Given the description of an element on the screen output the (x, y) to click on. 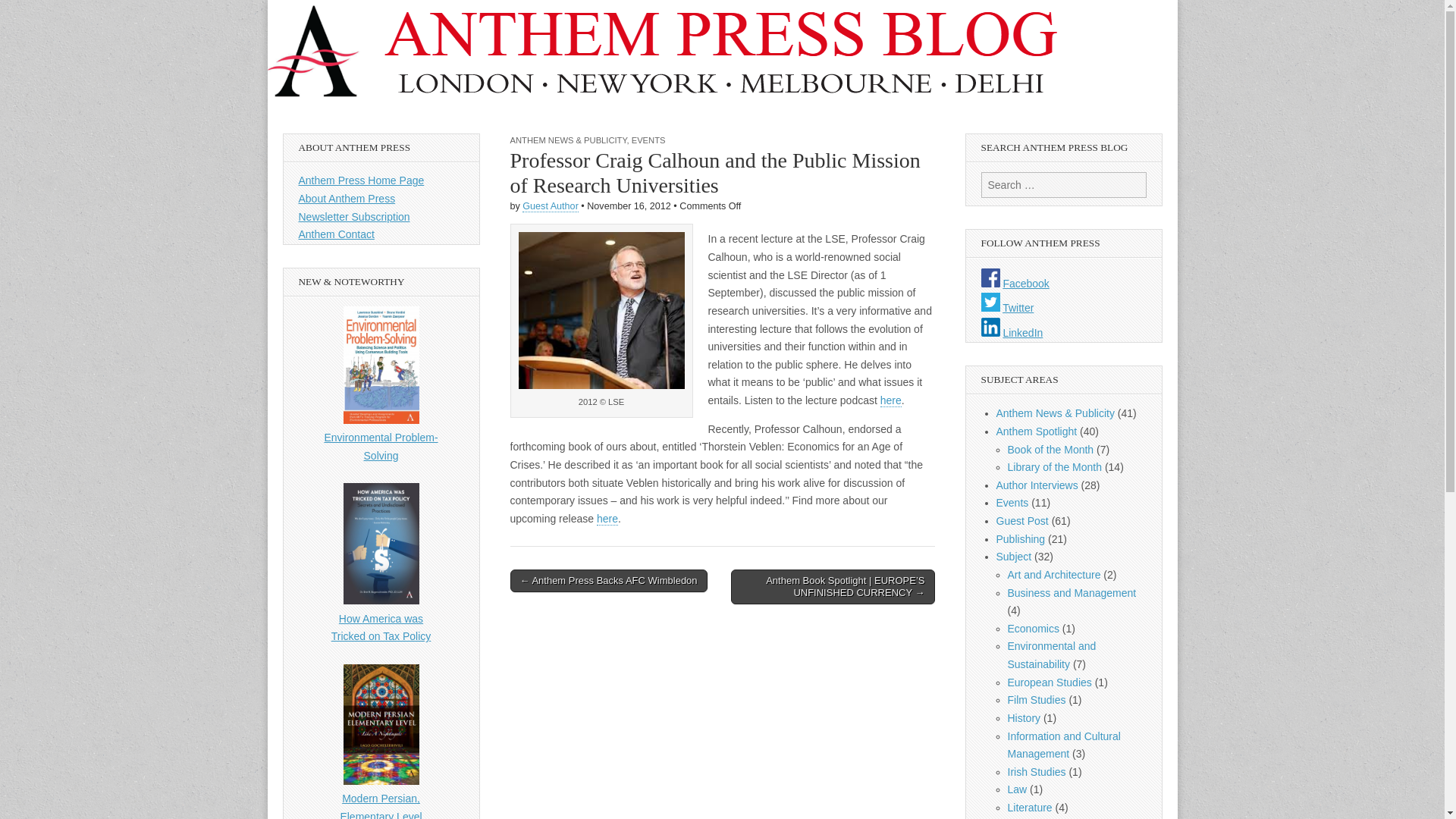
Business and Management (1071, 592)
Search (23, 12)
Twitter (990, 302)
LinkedIn (990, 326)
Twitter (1018, 307)
How America was Tricked on Tax Policy (381, 571)
Economics (1032, 628)
Guest Post (1021, 521)
Modern Persian, Elementary Level (381, 741)
About Anthem Press (347, 198)
